Given the description of an element on the screen output the (x, y) to click on. 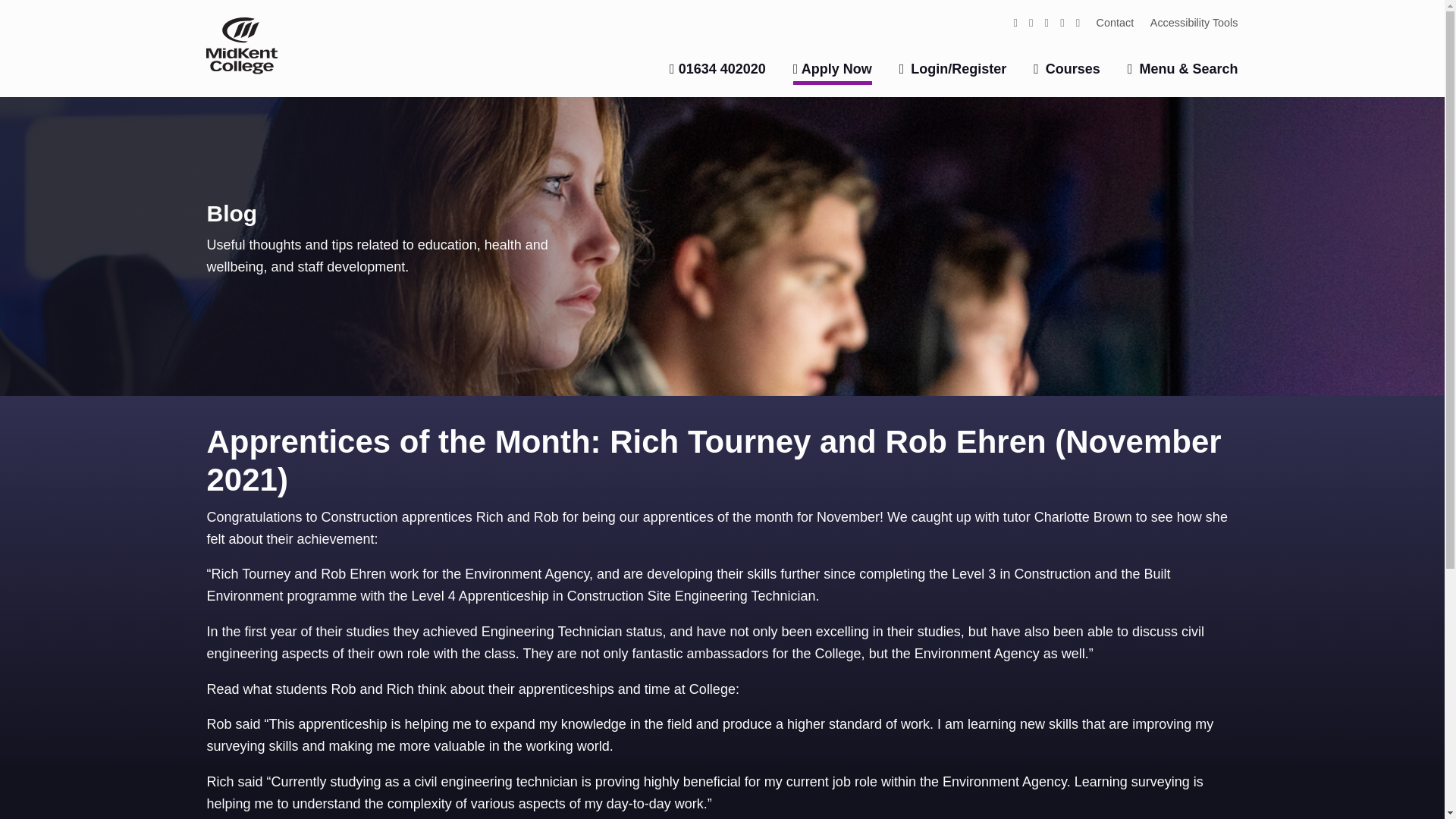
 Apply Now (832, 73)
Accessibility Tools (1194, 21)
Contact (1115, 21)
 01634 402020 (717, 68)
Courses (1066, 69)
